Given the description of an element on the screen output the (x, y) to click on. 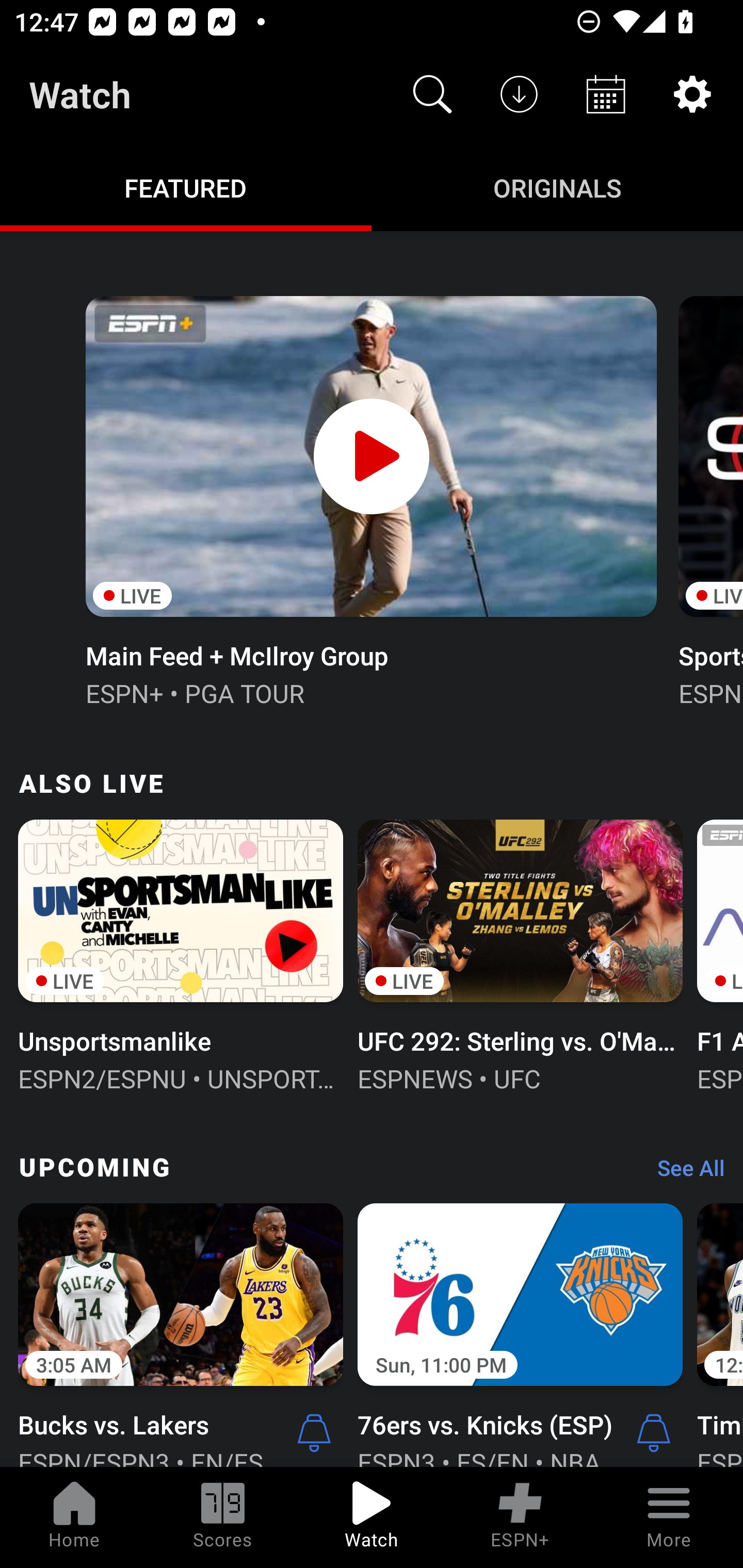
Search (432, 93)
Downloads (518, 93)
Schedule (605, 93)
Settings (692, 93)
Originals ORIGINALS (557, 187)
 LIVE Main Feed + McIlroy Group ESPN+ • PGA TOUR (370, 499)
LIVE UFC 292: Sterling vs. O'Malley ESPNEWS • UFC (519, 954)
See All (683, 1172)
Alerts (314, 1432)
Alerts (653, 1432)
Home (74, 1517)
Scores (222, 1517)
ESPN+ (519, 1517)
More (668, 1517)
